Given the description of an element on the screen output the (x, y) to click on. 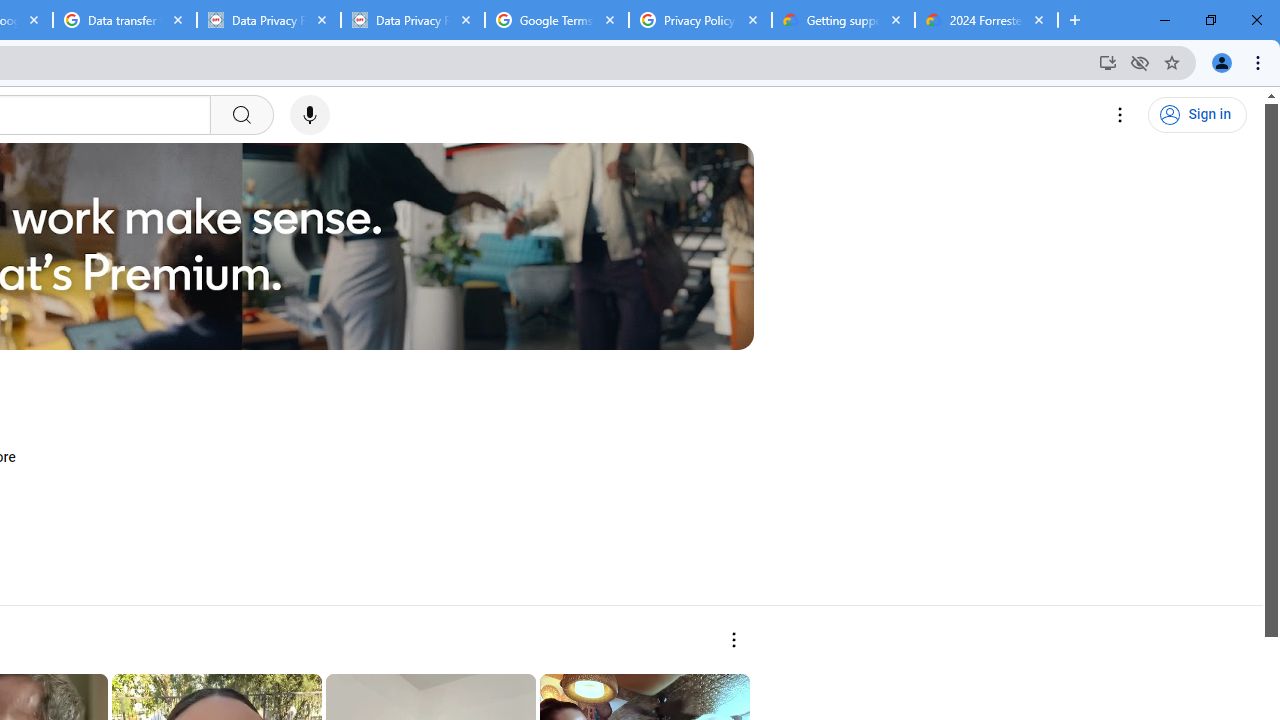
Search (240, 115)
Third-party cookies blocked (1139, 62)
Bookmark this tab (1171, 62)
Restore (1210, 20)
